Given the description of an element on the screen output the (x, y) to click on. 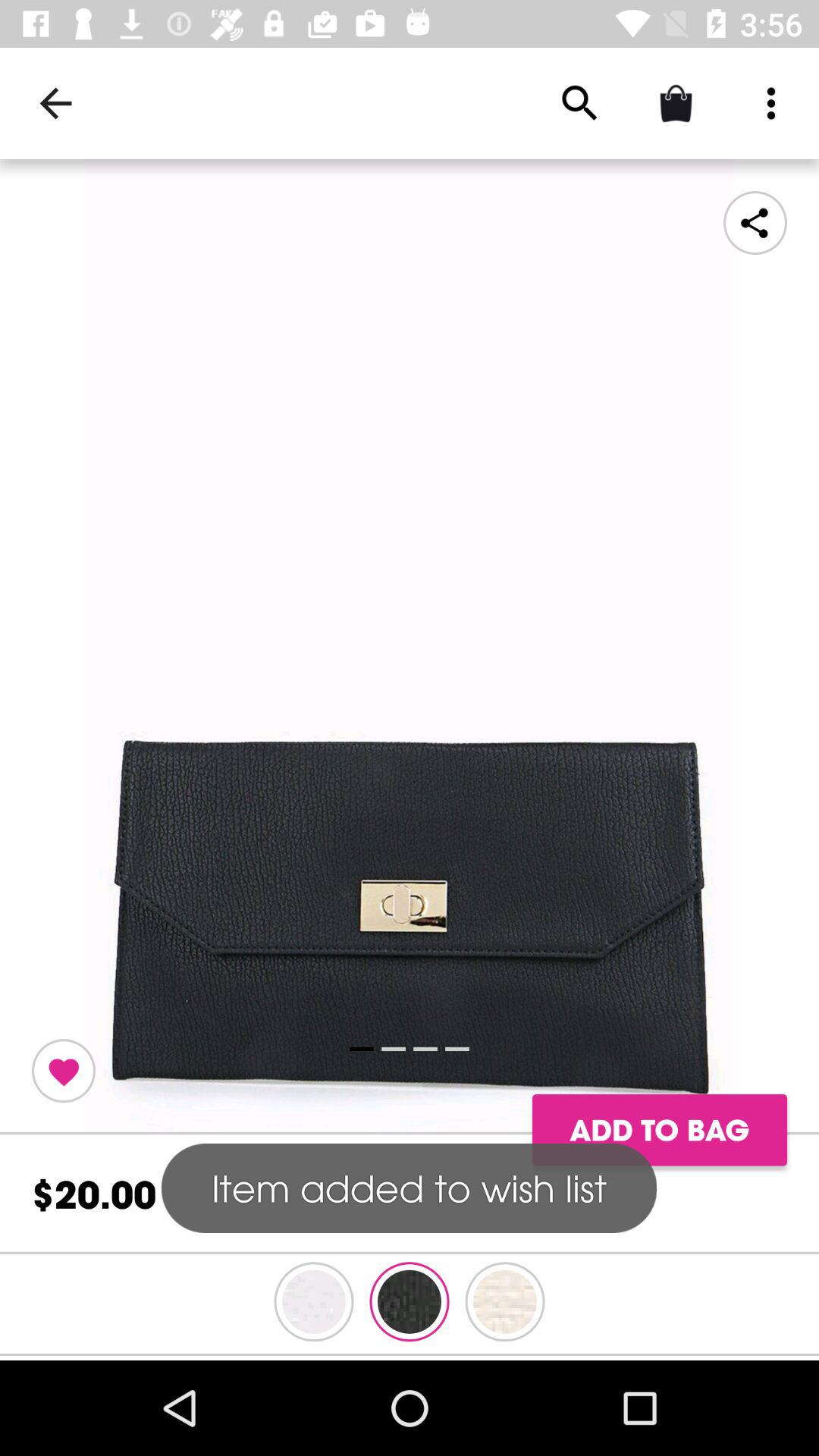
favorite toggle button (63, 1070)
